Given the description of an element on the screen output the (x, y) to click on. 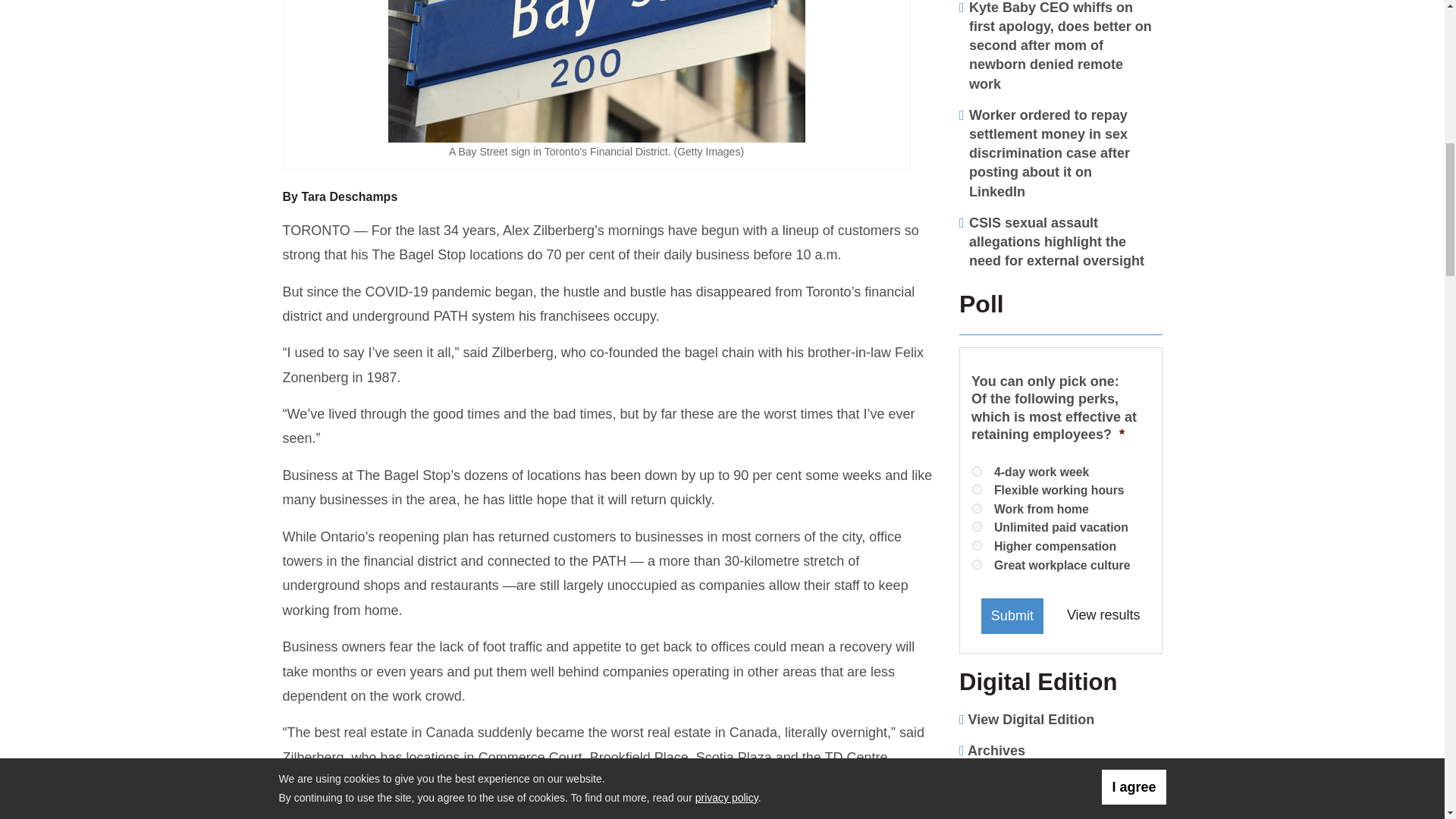
gpoll10b7ec0ba (976, 545)
gpoll190c5a50f (976, 508)
gpoll1e0c07374 (976, 526)
gpoll15bba992f (976, 470)
gpoll1466bfab9 (976, 564)
gpoll1ce9fdb5a (976, 489)
Submit (1012, 615)
